Given the description of an element on the screen output the (x, y) to click on. 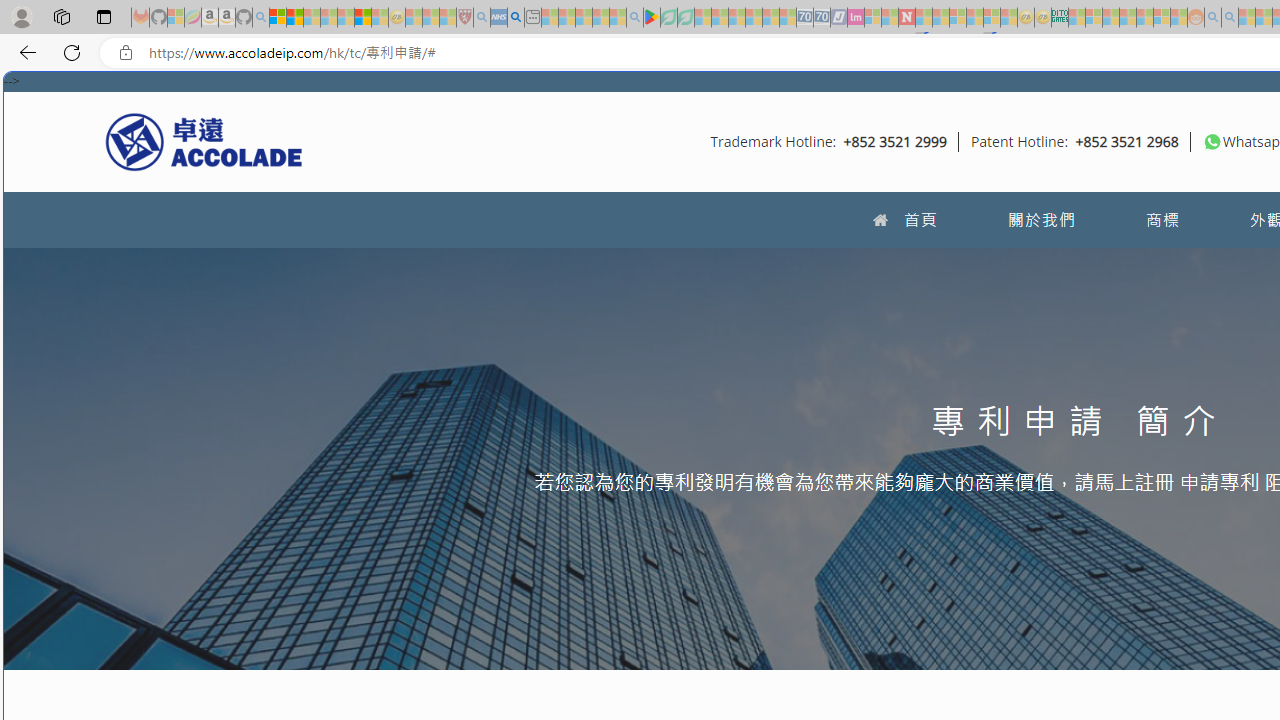
New Report Confirms 2023 Was Record Hot | Watch - Sleeping (345, 17)
Utah sues federal government - Search - Sleeping (1229, 17)
Bluey: Let's Play! - Apps on Google Play (651, 17)
Expert Portfolios - Sleeping (1128, 17)
MSNBC - MSN - Sleeping (1076, 17)
Trusted Community Engagement and Contributions | Guidelines (923, 17)
